Given the description of an element on the screen output the (x, y) to click on. 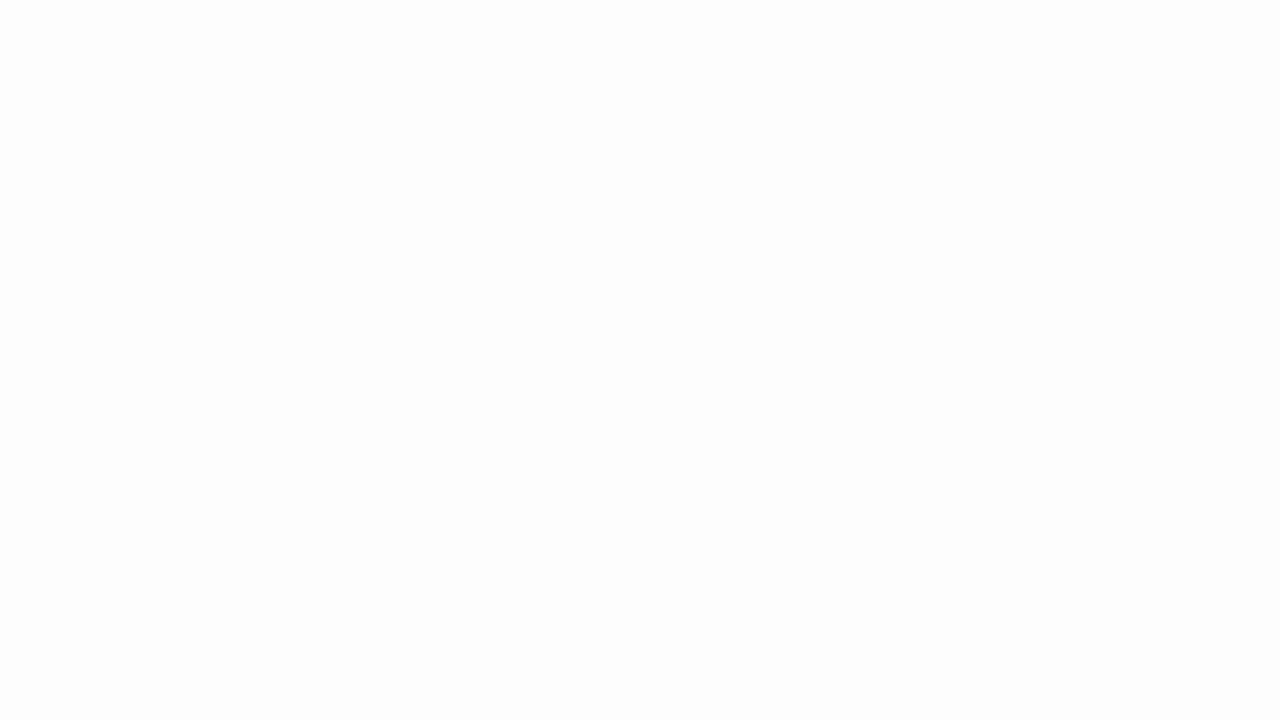
Align Right (509, 119)
Conditional Formatting (924, 102)
Format Cell Number (870, 151)
Merge & Center (641, 119)
Copy (78, 103)
Font Color RGB(255, 0, 0) (362, 119)
Bad (1180, 86)
Show Phonetic Field (408, 119)
Borders (285, 119)
